Given the description of an element on the screen output the (x, y) to click on. 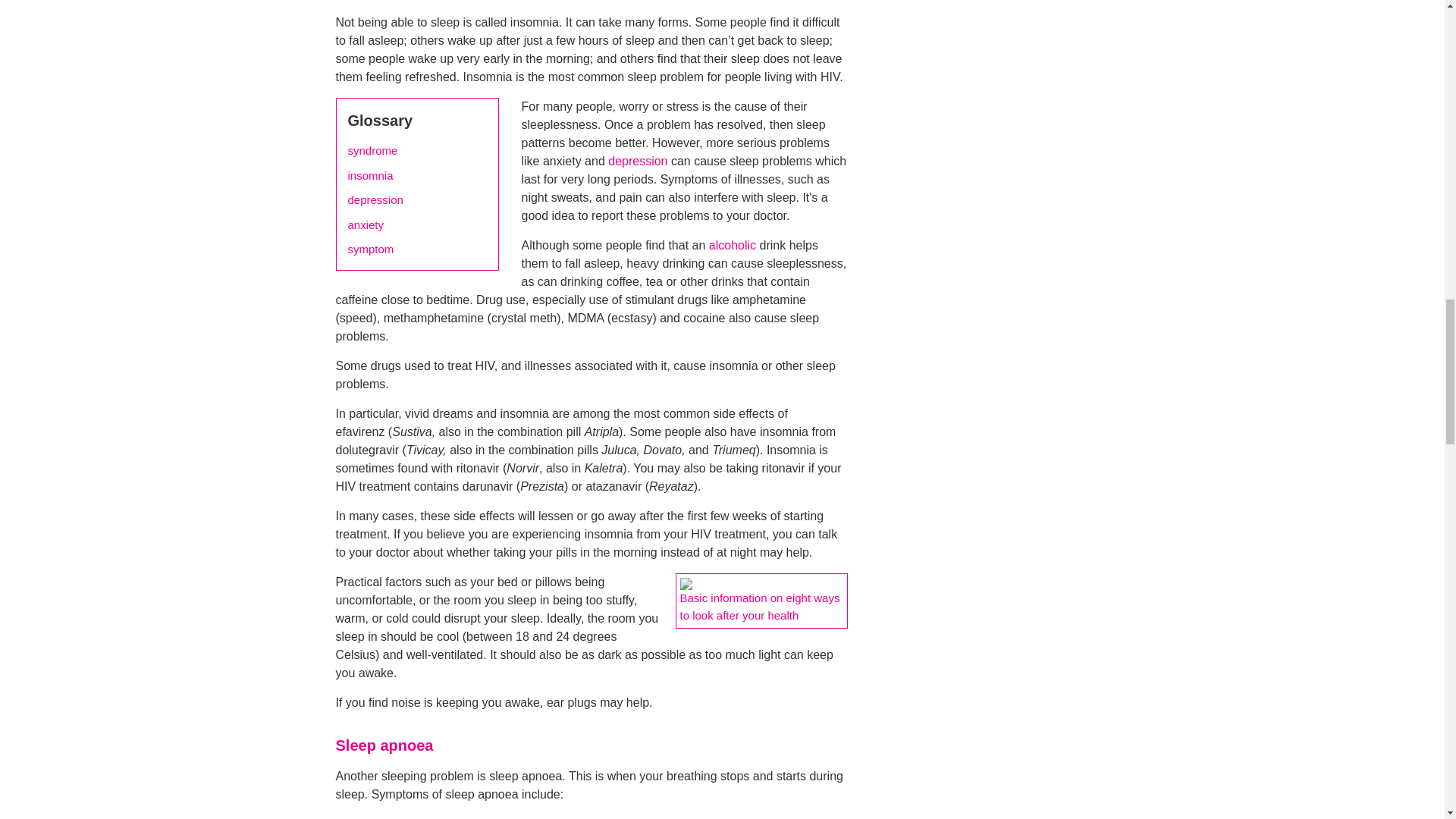
syndrome (372, 150)
depression (375, 200)
depression (637, 160)
Glossary (379, 120)
alcoholic (732, 245)
anxiety (365, 225)
symptom (370, 249)
insomnia (370, 176)
